Given the description of an element on the screen output the (x, y) to click on. 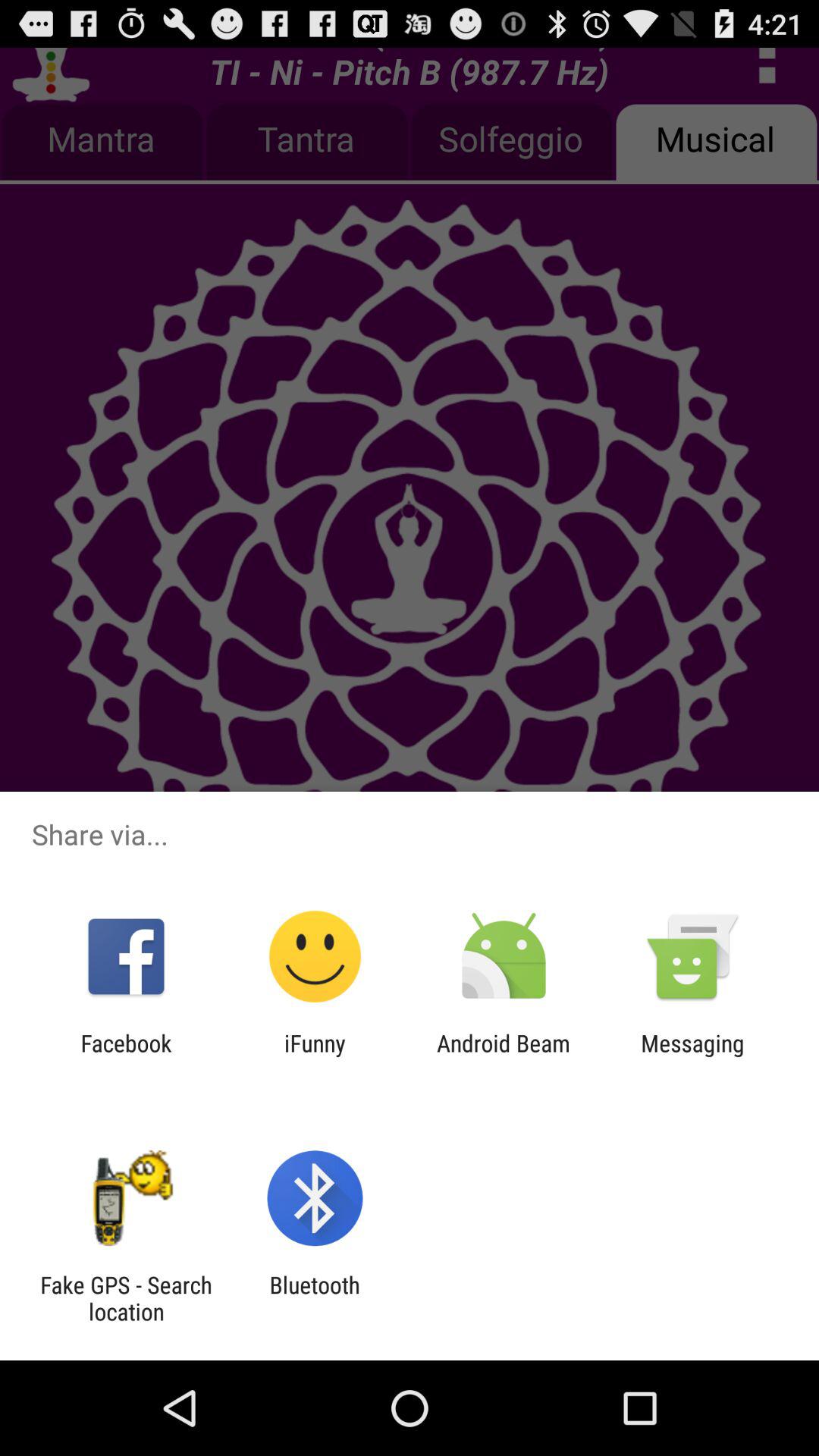
open the fake gps search app (125, 1298)
